Given the description of an element on the screen output the (x, y) to click on. 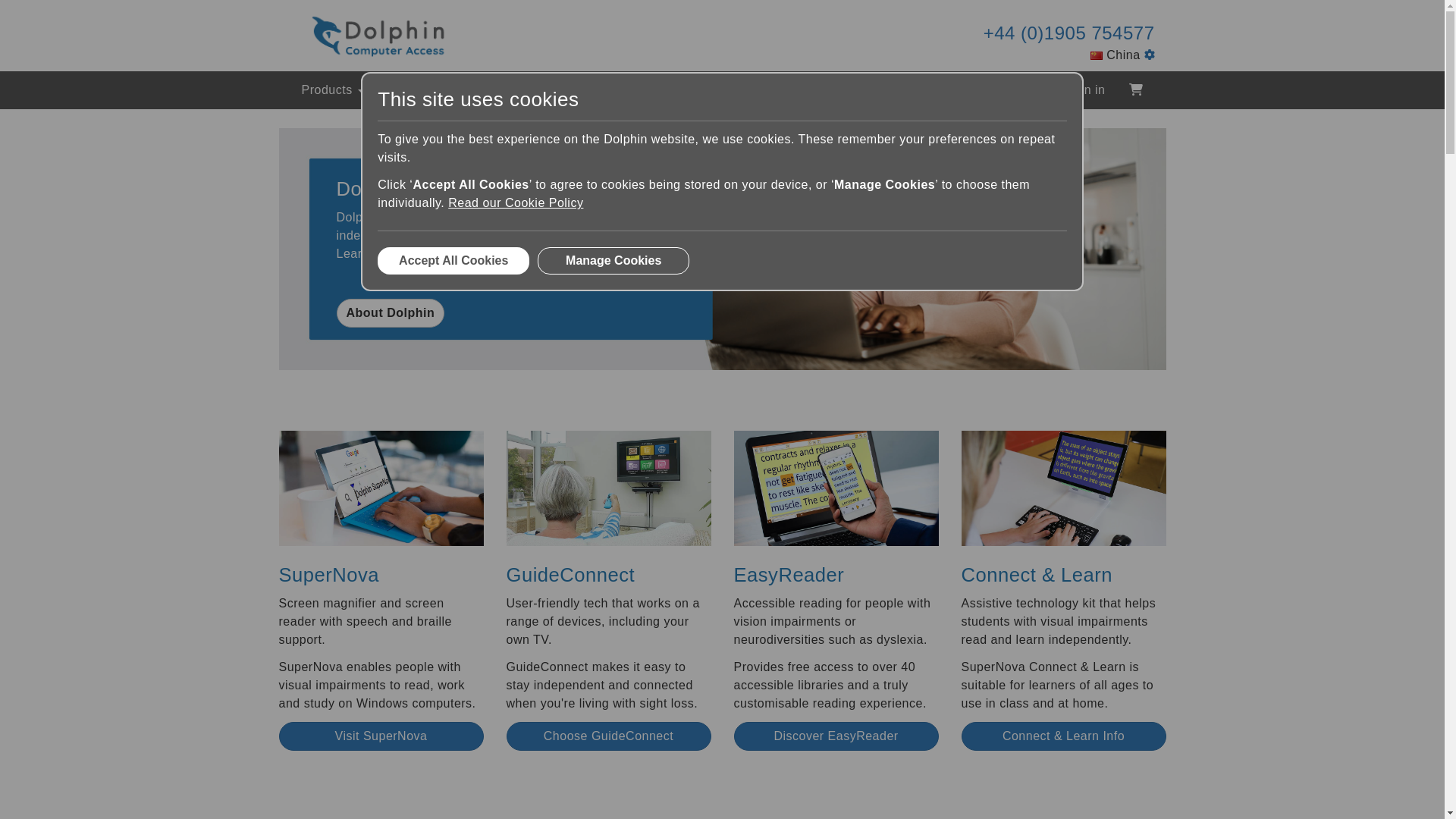
Sectors (413, 89)
Shopping Basket (1135, 89)
Products (331, 89)
Search site (1022, 90)
